Given the description of an element on the screen output the (x, y) to click on. 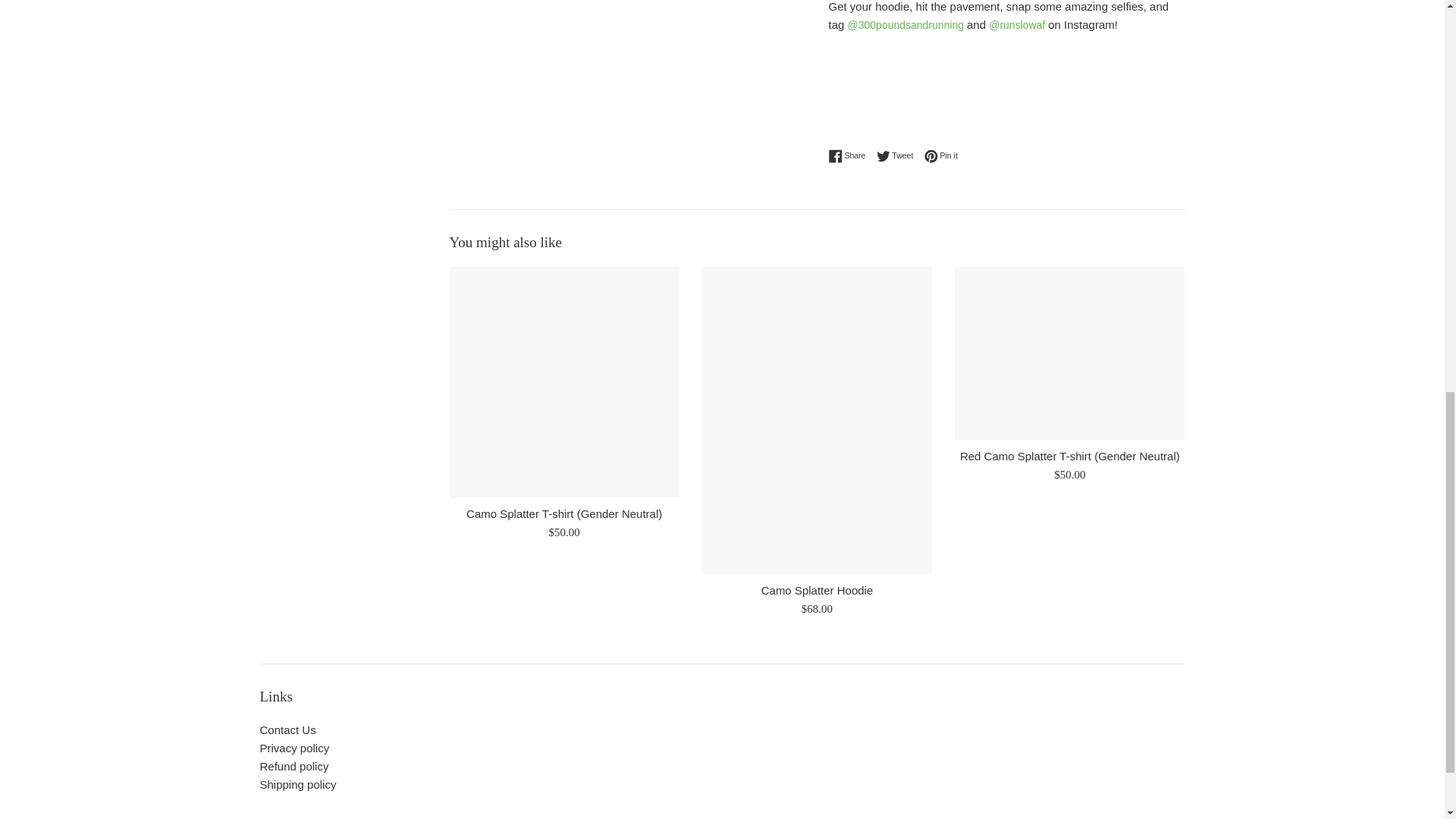
Privacy policy (294, 748)
Pin on Pinterest (941, 155)
Share on Facebook (850, 155)
Contact Us (287, 729)
Camo Splatter Hoodie (817, 590)
Refund policy (294, 766)
Tweet on Twitter (898, 155)
